Given the description of an element on the screen output the (x, y) to click on. 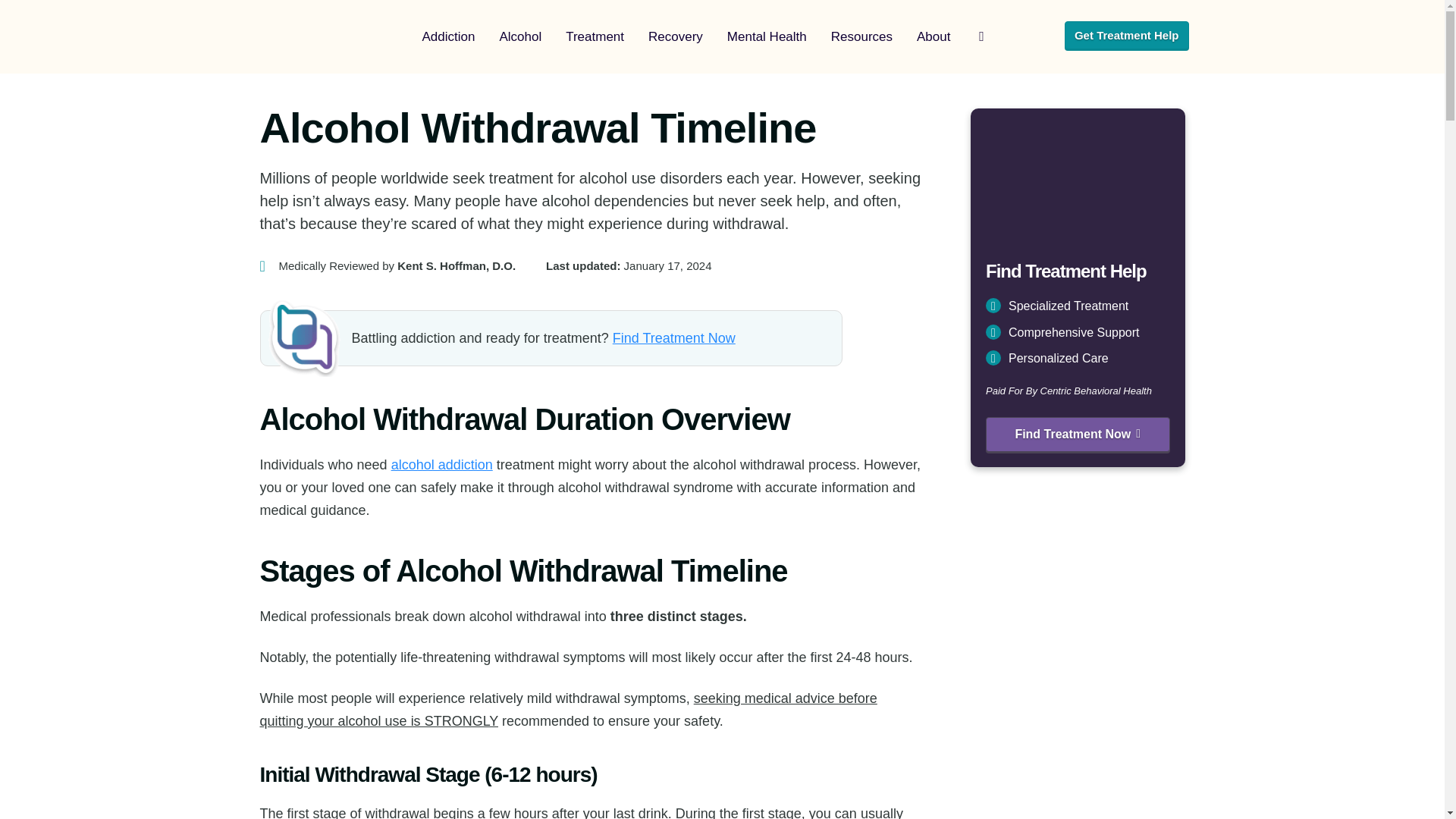
Treatment (594, 37)
Click to view Kent S. Hoffman, D.O. (387, 265)
Mental Health (766, 37)
Addiction Help (325, 36)
Addiction (447, 37)
Recovery (675, 37)
Get Treatment Help (1126, 35)
Resources (861, 37)
Addiction Help (325, 36)
Alcohol (519, 37)
Addiction (447, 37)
